Given the description of an element on the screen output the (x, y) to click on. 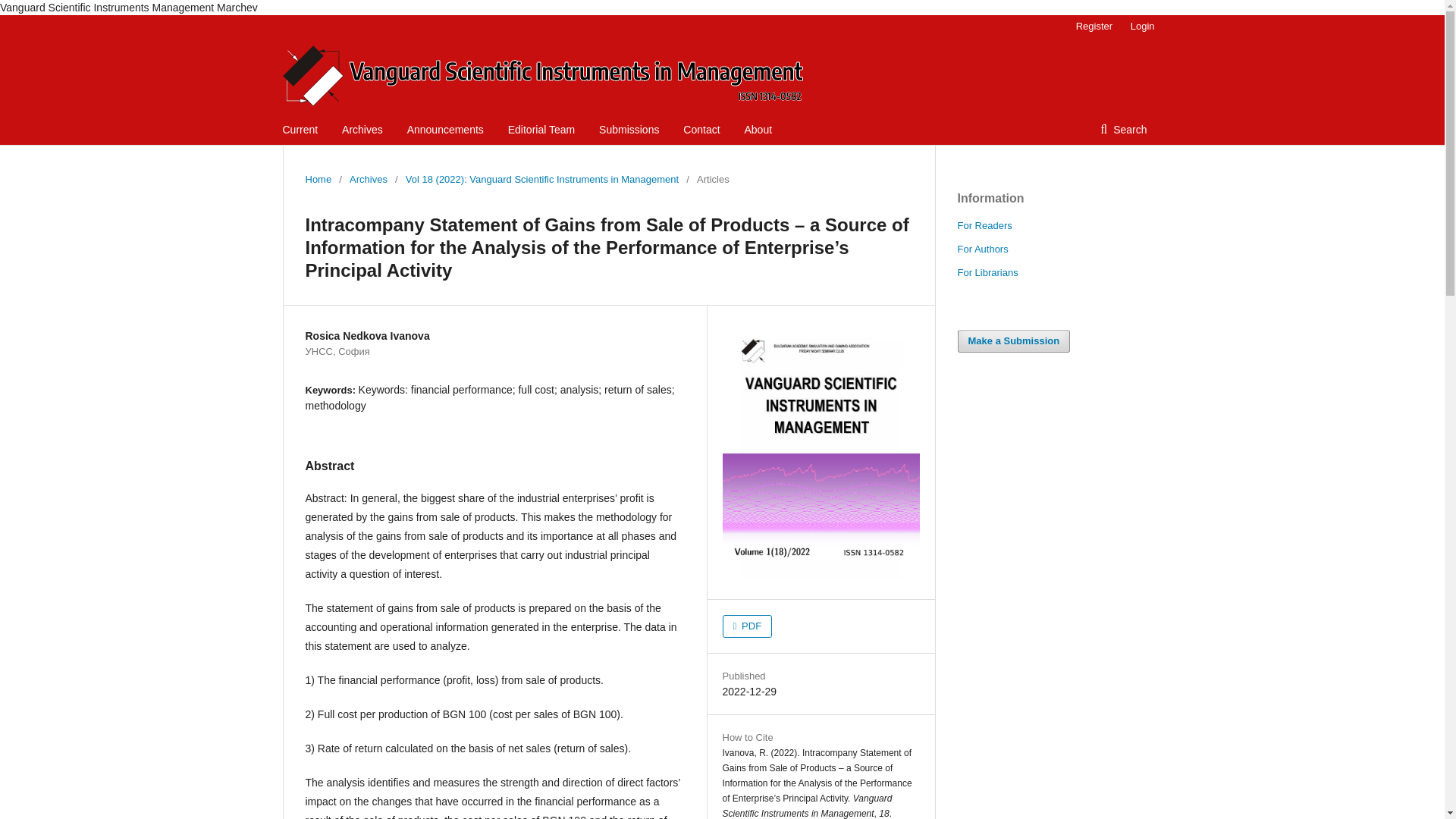
PDF (746, 626)
For Authors (981, 248)
Search (1122, 129)
Archives (362, 129)
Home (317, 179)
Editorial Team (541, 129)
Current (299, 129)
For Librarians (986, 272)
Submissions (628, 129)
About (757, 129)
Contact (700, 129)
Announcements (445, 129)
Archives (368, 179)
Register (1093, 26)
Login (1138, 26)
